Given the description of an element on the screen output the (x, y) to click on. 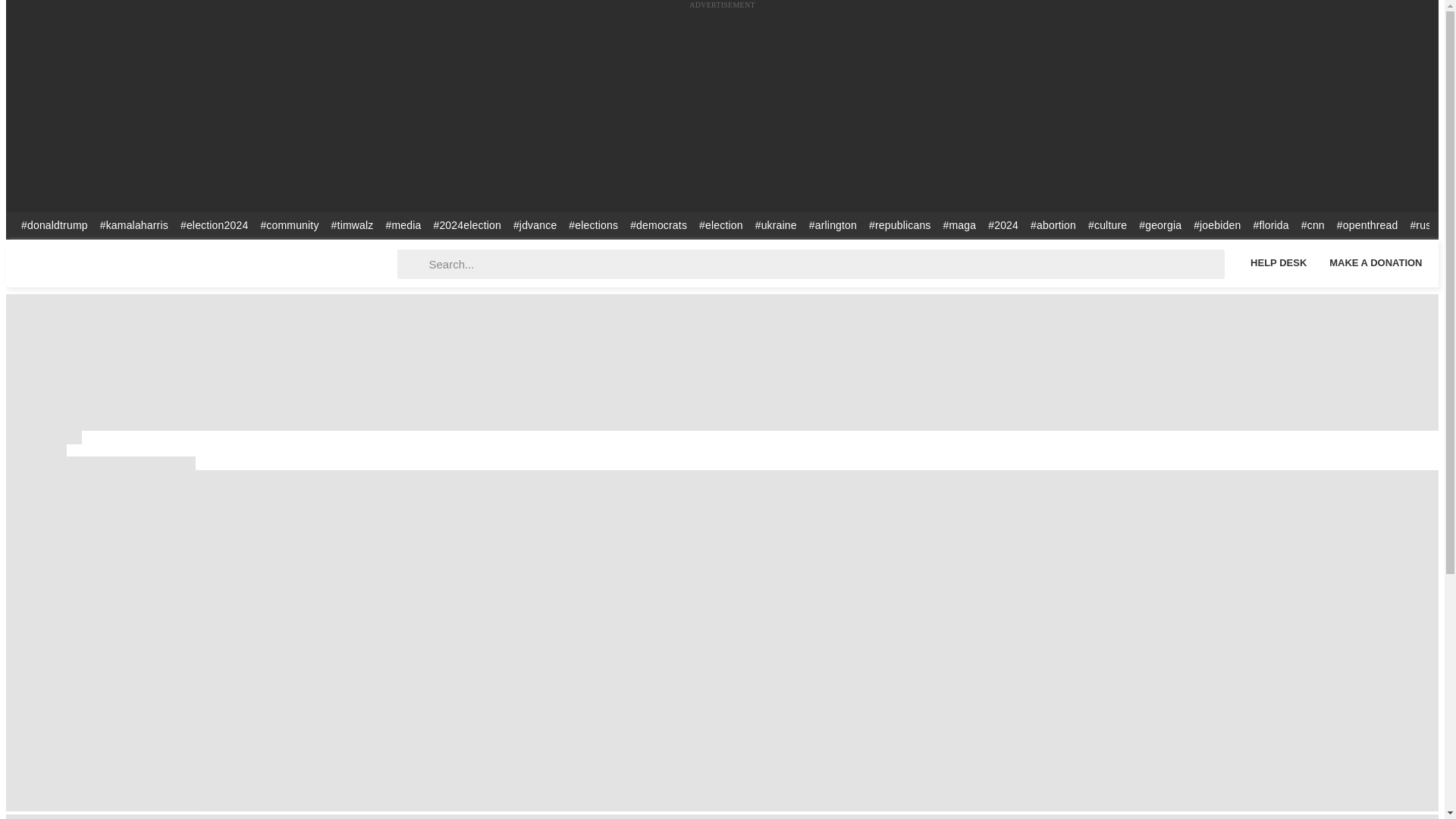
MAKE A DONATION (1375, 262)
Make a Donation (1375, 262)
Help Desk (1277, 262)
